Given the description of an element on the screen output the (x, y) to click on. 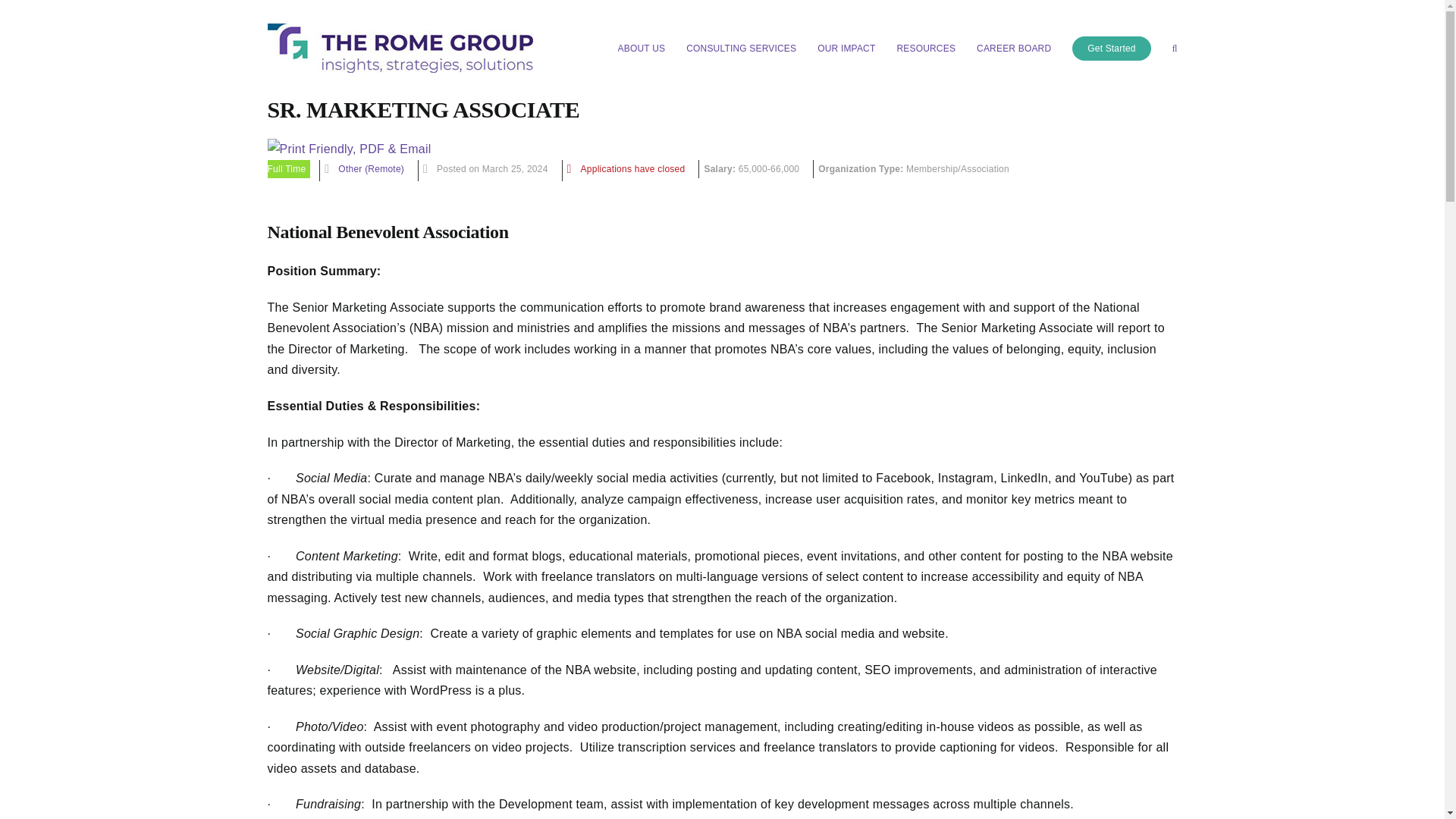
CONSULTING SERVICES (740, 48)
